Given the description of an element on the screen output the (x, y) to click on. 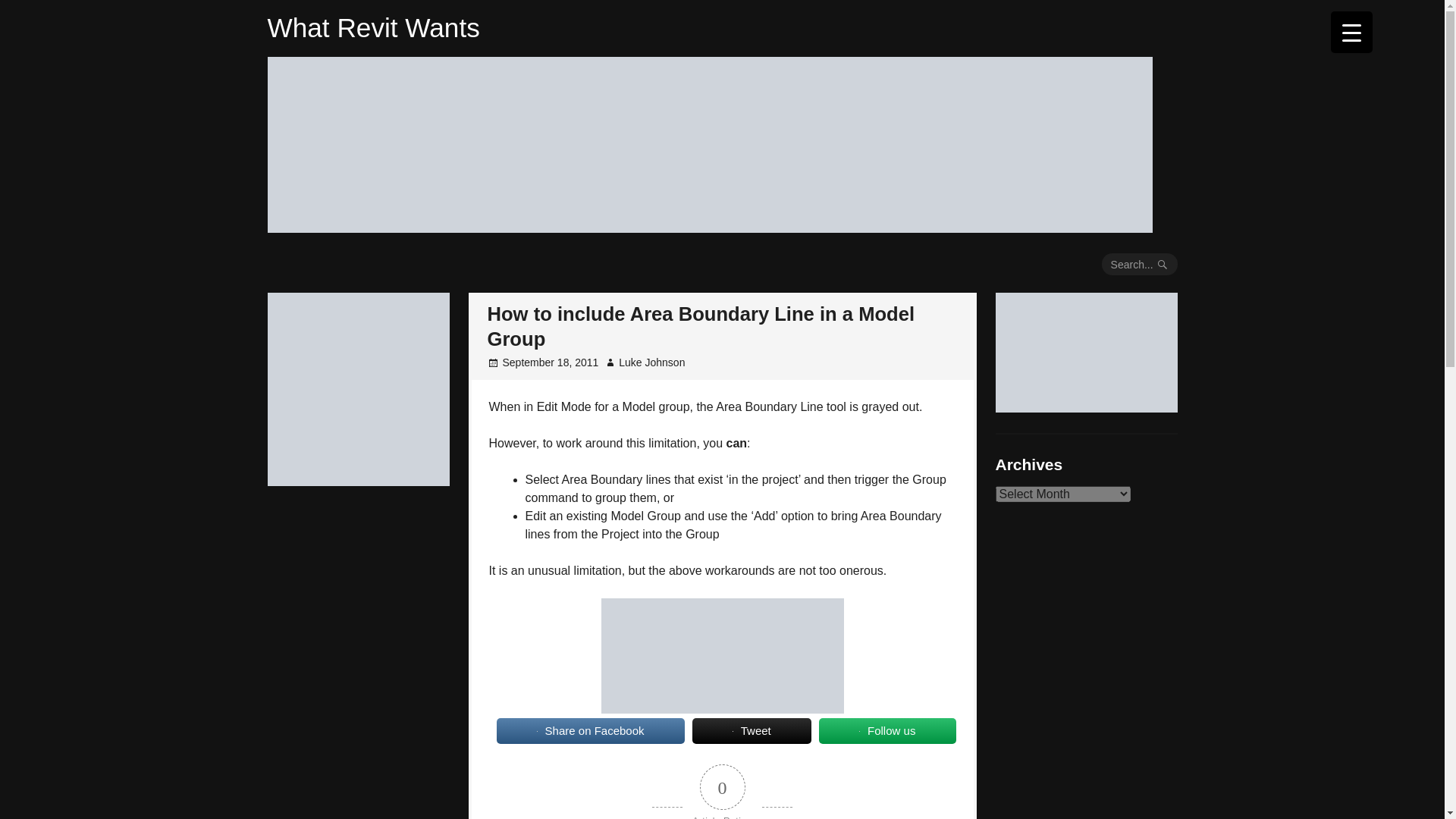
Share on Facebook (590, 730)
Search... (1139, 264)
What Revit Wants (372, 27)
Luke Johnson (651, 362)
Tweet (751, 730)
Follow us (887, 730)
September 18, 2011 (550, 362)
